Given the description of an element on the screen output the (x, y) to click on. 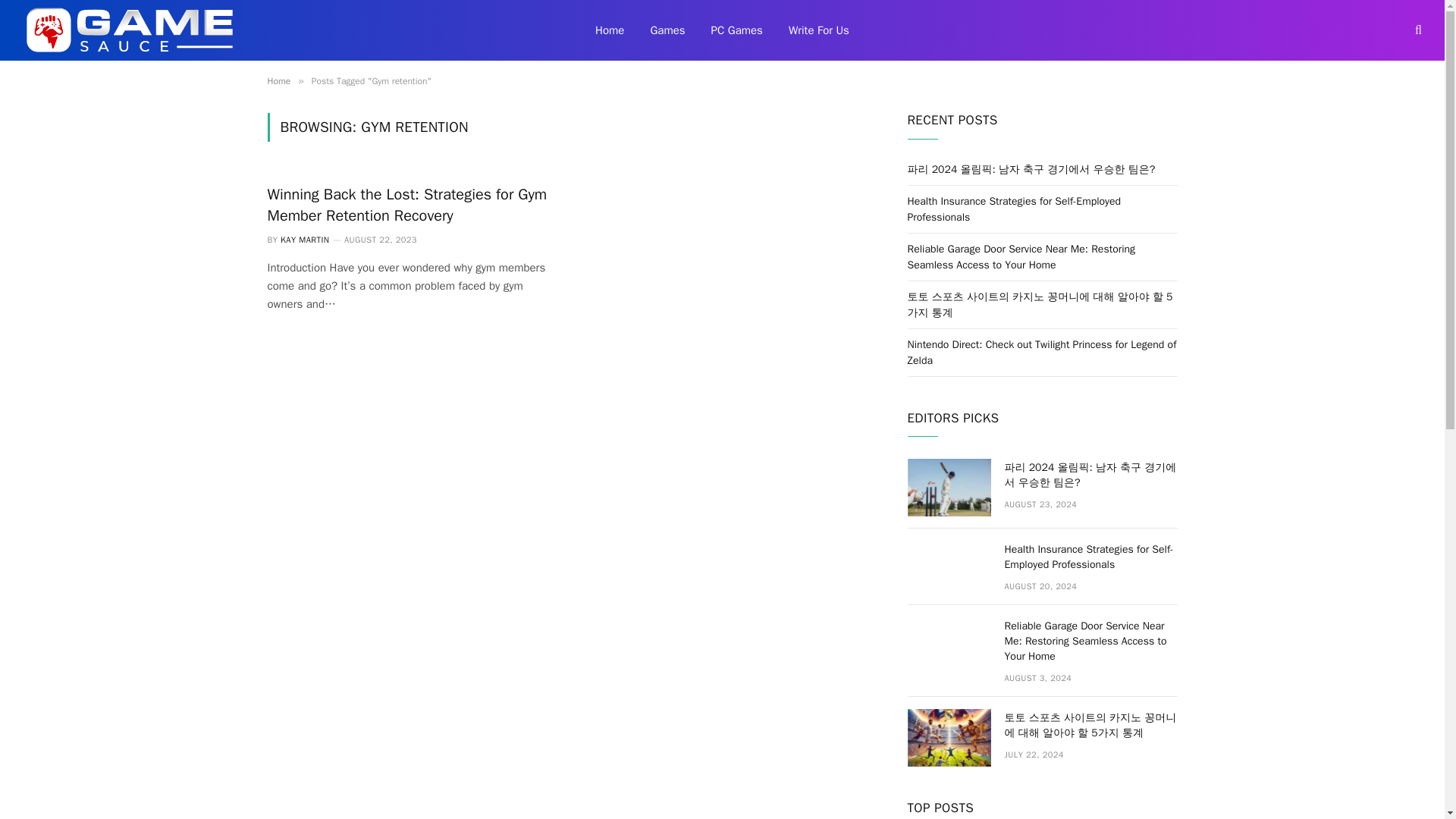
Posts by Kay Martin (305, 239)
Games (667, 30)
Home (609, 30)
Home (277, 80)
Health Insurance Strategies for Self-Employed Professionals (1014, 208)
KAY MARTIN (305, 239)
PC Games (737, 30)
